Given the description of an element on the screen output the (x, y) to click on. 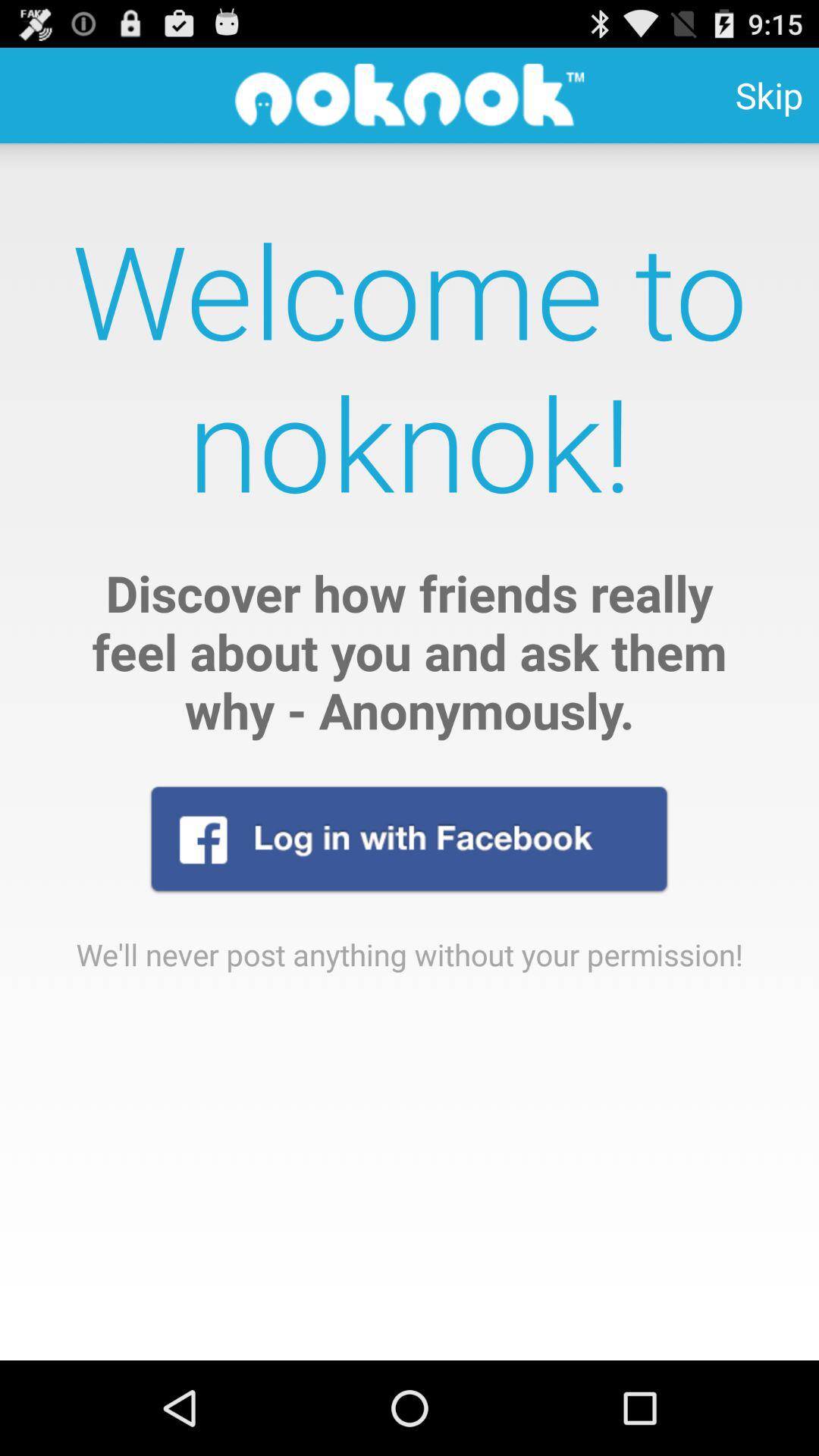
open icon at the top right corner (769, 95)
